Given the description of an element on the screen output the (x, y) to click on. 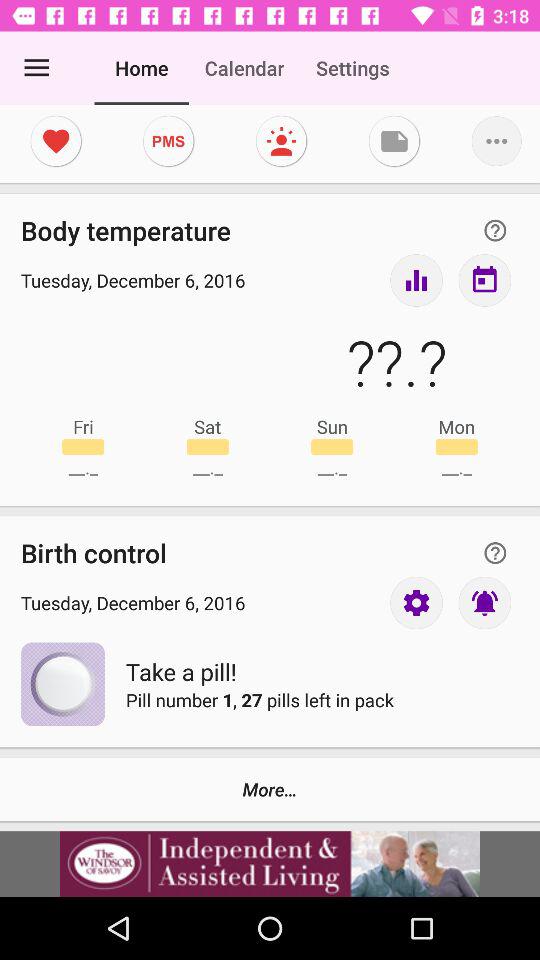
save the file (394, 141)
